Given the description of an element on the screen output the (x, y) to click on. 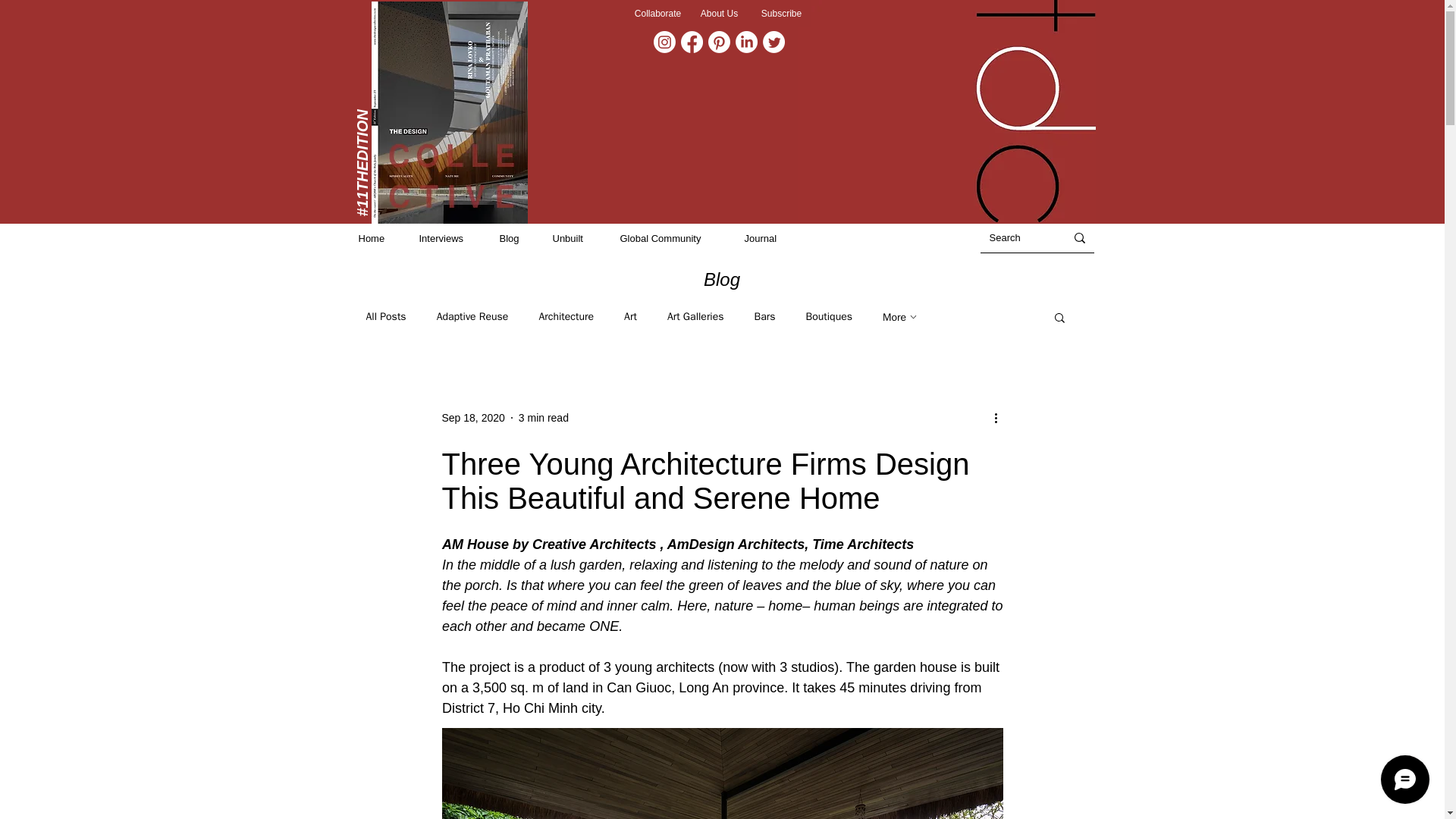
Adaptive Reuse (472, 316)
Blog (518, 238)
Collaborate (657, 13)
Journal (769, 238)
Subscribe (781, 13)
Architecture (566, 316)
All Posts (385, 316)
Boutiques (828, 316)
Home (380, 238)
Art Galleries (694, 316)
About Us (719, 13)
Sep 18, 2020 (472, 417)
Global Community (674, 238)
Art (630, 316)
Interviews (451, 238)
